Given the description of an element on the screen output the (x, y) to click on. 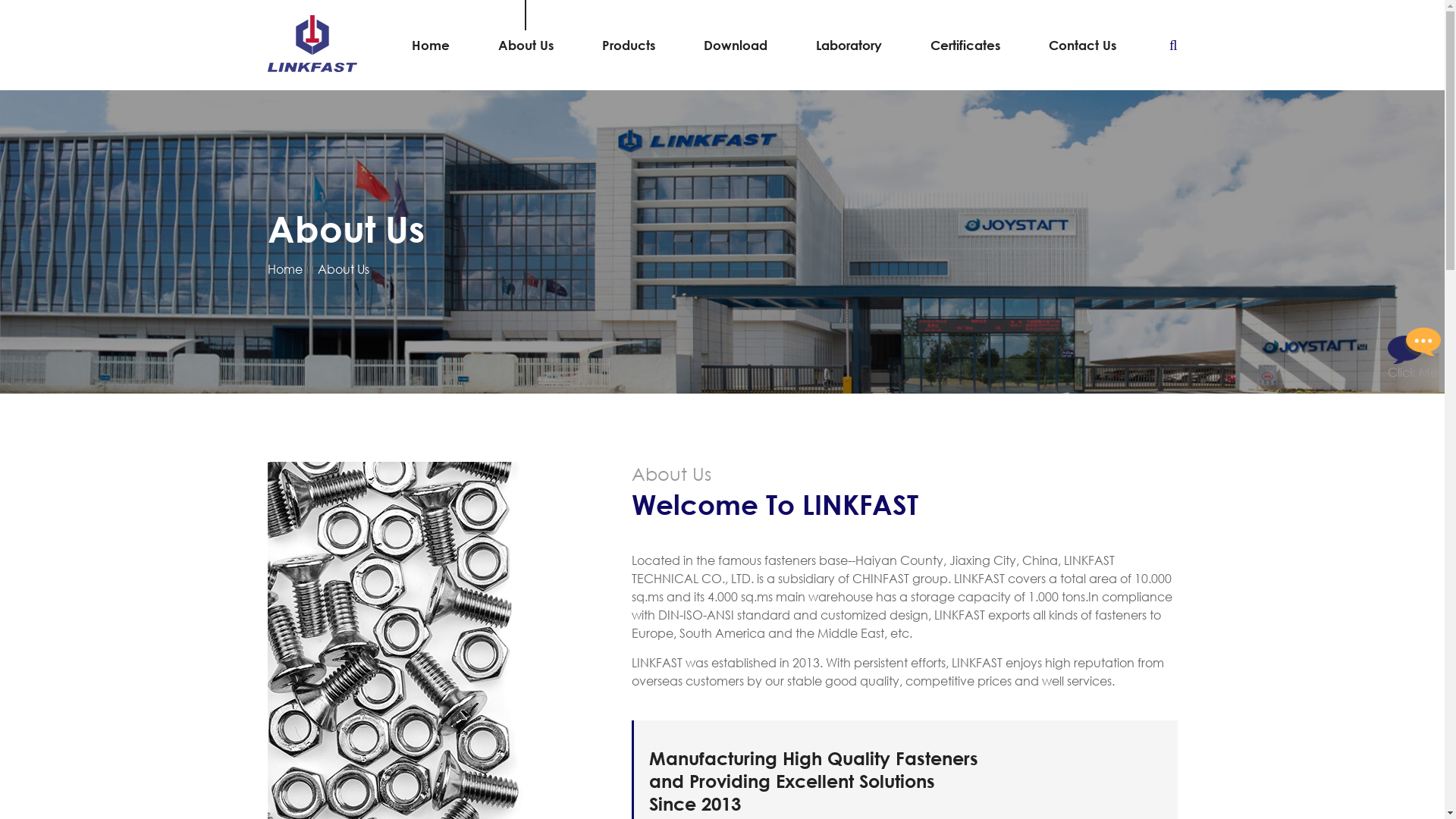
Laboratory Element type: text (848, 45)
Download Element type: text (735, 45)
Products Element type: text (628, 45)
Home Element type: text (283, 268)
Certificates Element type: text (965, 45)
About Us Element type: text (342, 268)
Home Element type: text (430, 45)
About Us Element type: text (525, 45)
Contact Us Element type: text (1082, 45)
